Given the description of an element on the screen output the (x, y) to click on. 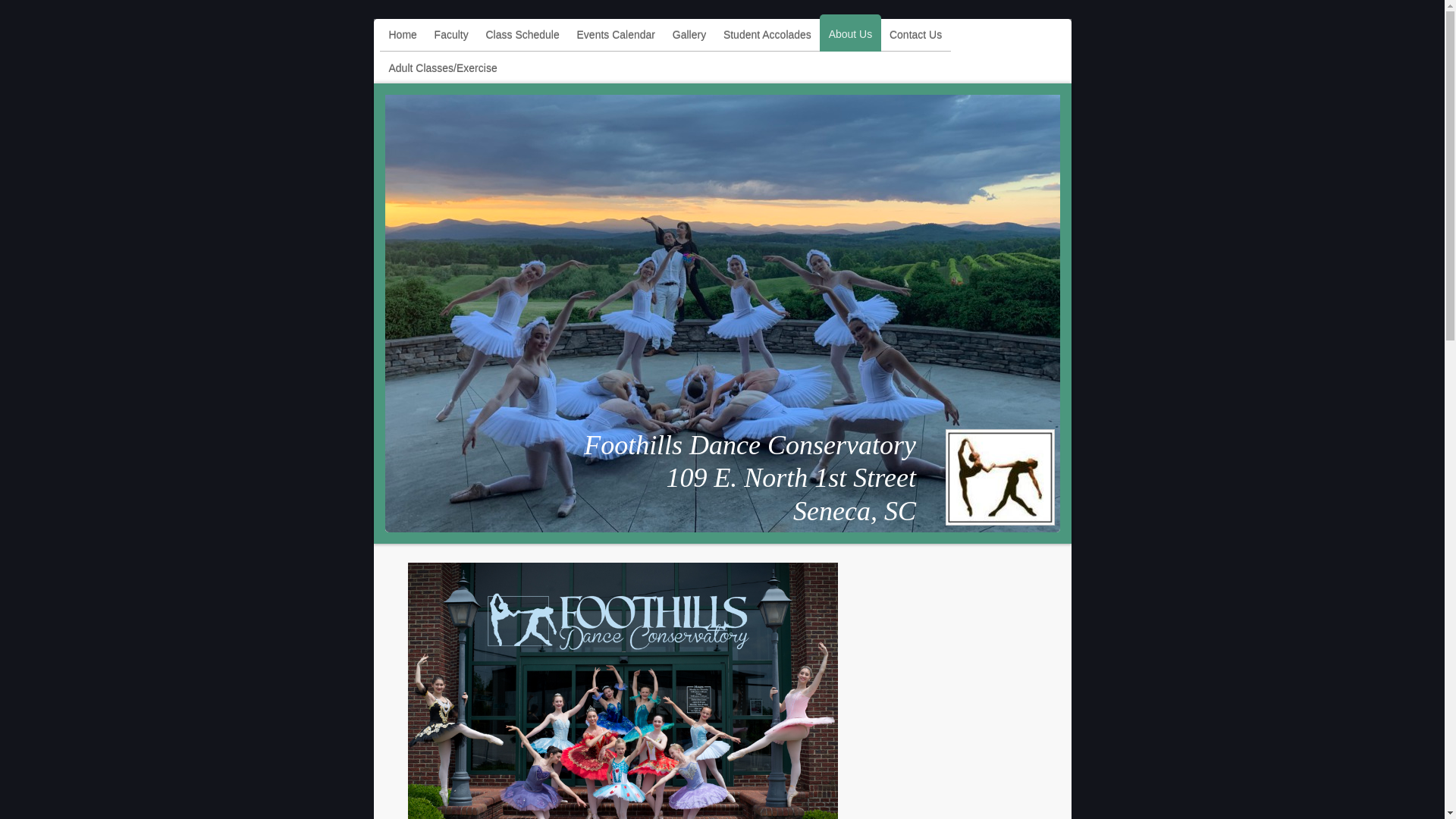
Class Schedule (522, 35)
Faculty (451, 35)
Home (402, 35)
JulieTurnerPhotography.com (622, 690)
Gallery (688, 35)
Contact Us (915, 35)
About Us (849, 32)
Events Calendar (615, 35)
Student Accolades (767, 35)
